Given the description of an element on the screen output the (x, y) to click on. 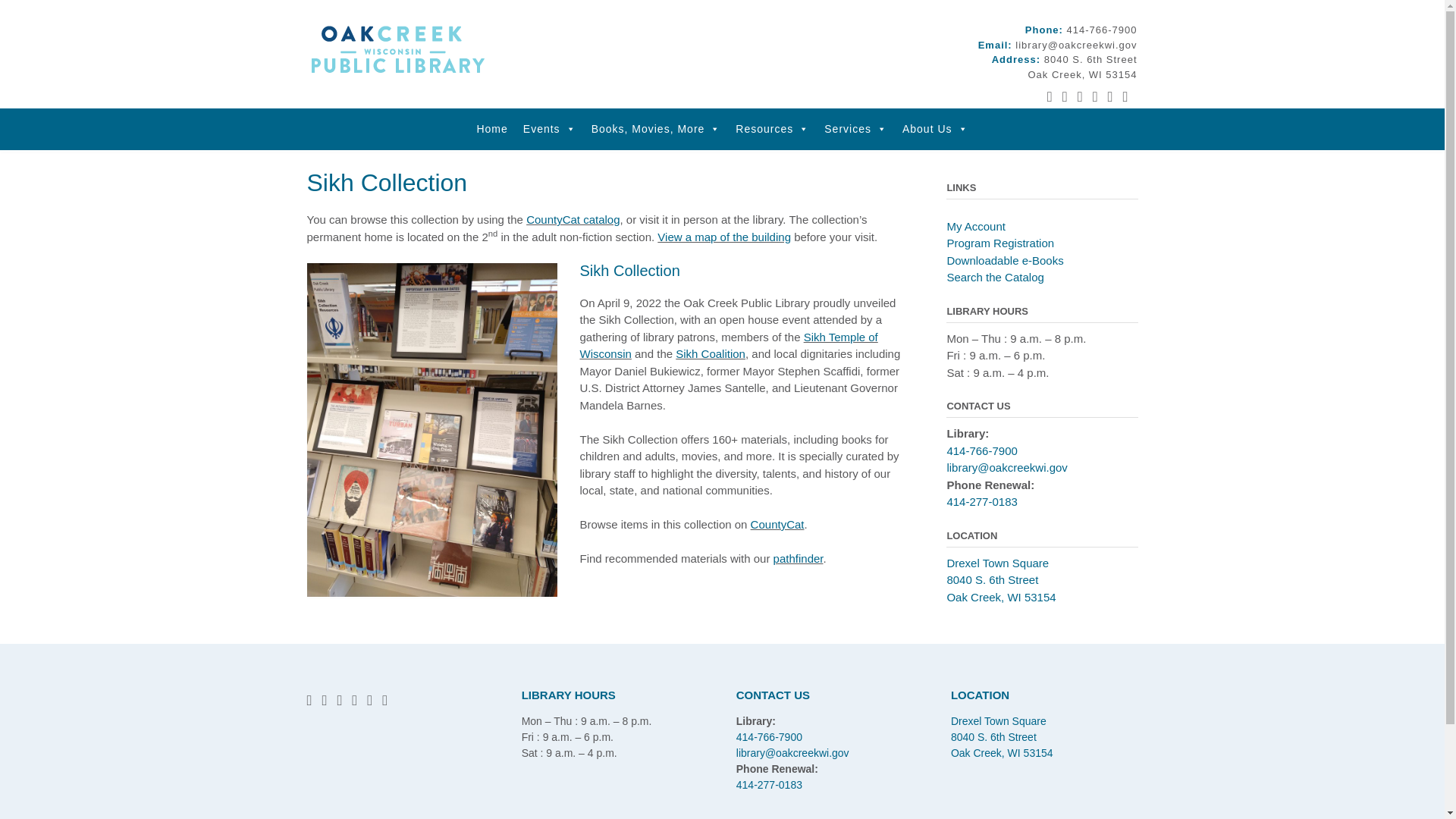
View our YouTube Channel (1080, 96)
Find us on Facebook (308, 700)
Follow us on Instagram (354, 700)
Events (549, 128)
Find us on SoundCloud (369, 700)
Follow us on Instagram (1095, 96)
Follow us on Twitter (1082, 67)
Books, Movies, More (323, 700)
View our YouTube Channel (656, 128)
Oak Creek Library (339, 700)
Find us on Facebook (395, 49)
414-766-7900 (1049, 96)
Home (1102, 30)
Find us on SoundCloud (491, 128)
